Given the description of an element on the screen output the (x, y) to click on. 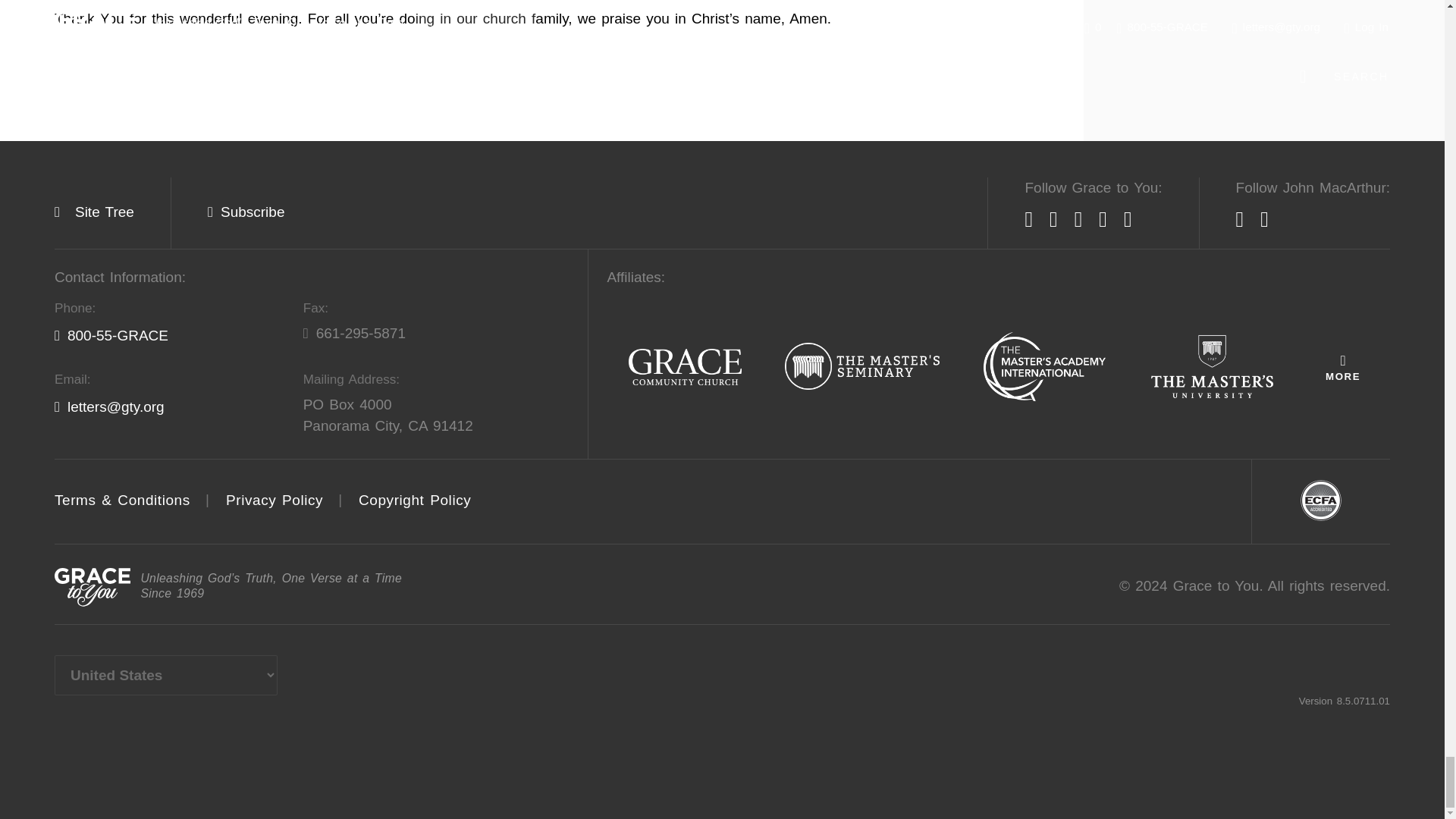
Grace-to-You (93, 587)
The Master' University (1211, 367)
The Master' Seminary (862, 367)
Grace Community Church (684, 367)
More Affiliates (1341, 367)
The Master' Academy International (1044, 367)
